Given the description of an element on the screen output the (x, y) to click on. 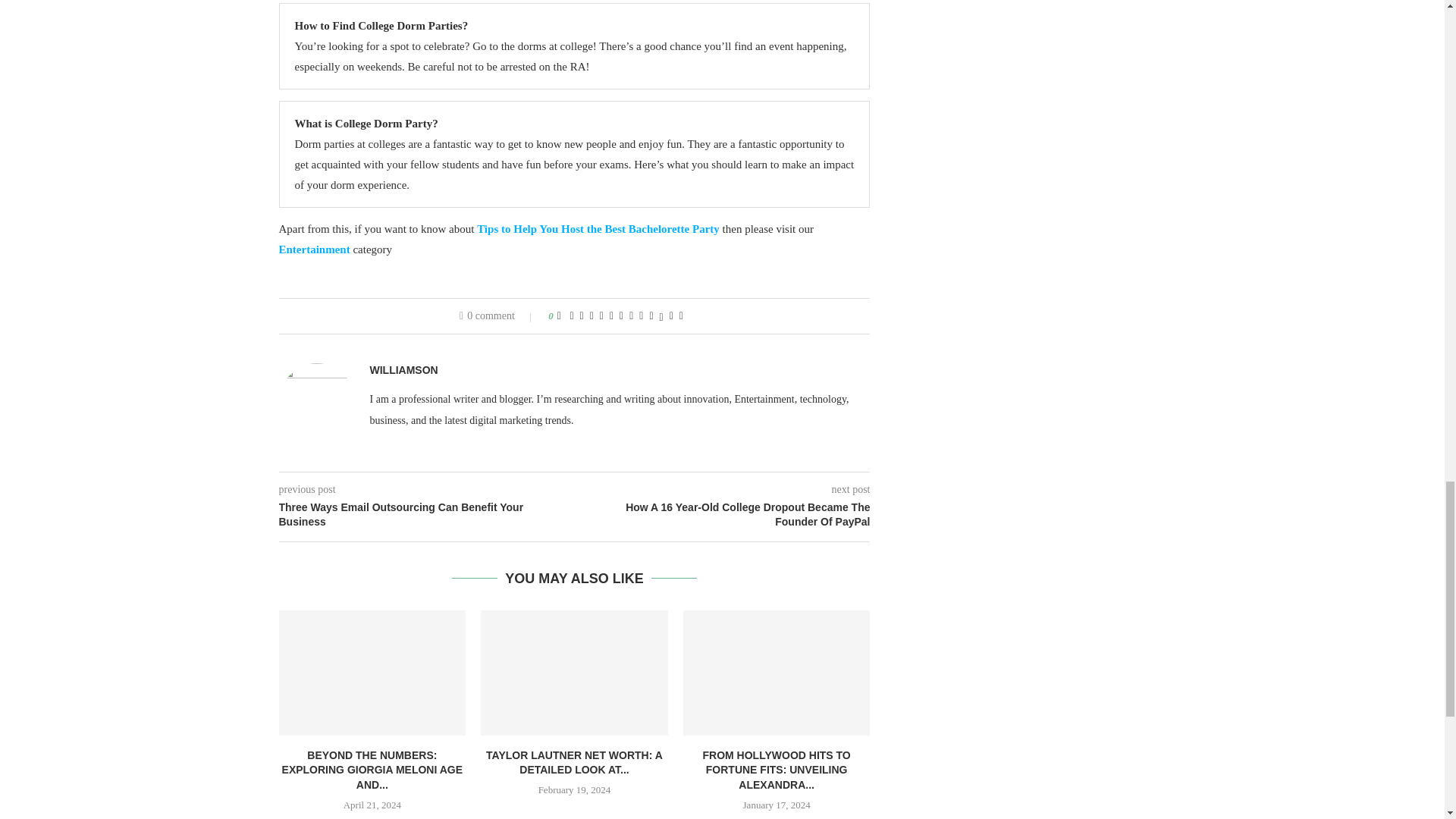
Author Williamson (403, 370)
